Given the description of an element on the screen output the (x, y) to click on. 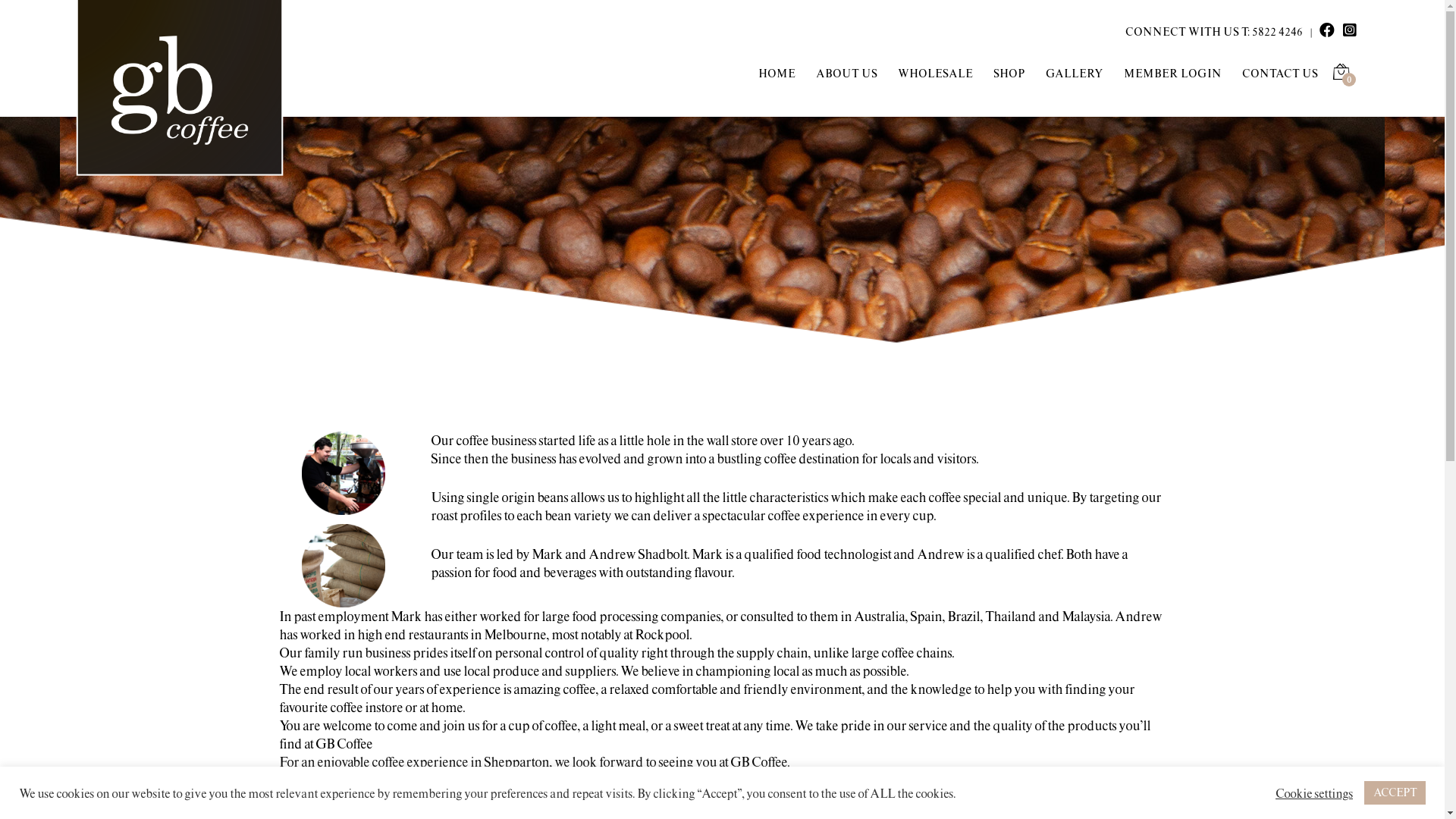
About Us Element type: text (1104, 527)
CONTACT US Element type: text (1279, 73)
ACCEPT Element type: text (1394, 792)
WHOLESALE Element type: text (934, 73)
HOME Element type: text (776, 73)
My account Element type: text (1104, 509)
CONNECT WITH US T: 5822 4246 Element type: text (1213, 32)
Contact Us Element type: text (1104, 491)
about2 Element type: hover (343, 565)
Cookie settings Element type: text (1313, 792)
about1 Element type: hover (343, 472)
ABOUT US Element type: text (846, 73)
0 Element type: text (1341, 72)
Facebook Element type: hover (870, 497)
MEMBER LOGIN Element type: text (1172, 73)
Send Element type: text (512, 689)
| Element type: text (1310, 32)
Privacy Policy Element type: text (1104, 545)
GALLERY Element type: text (1074, 73)
Instagram Element type: hover (870, 535)
SHOP Element type: text (1009, 73)
Terms and Conditions Element type: text (1104, 564)
